Given the description of an element on the screen output the (x, y) to click on. 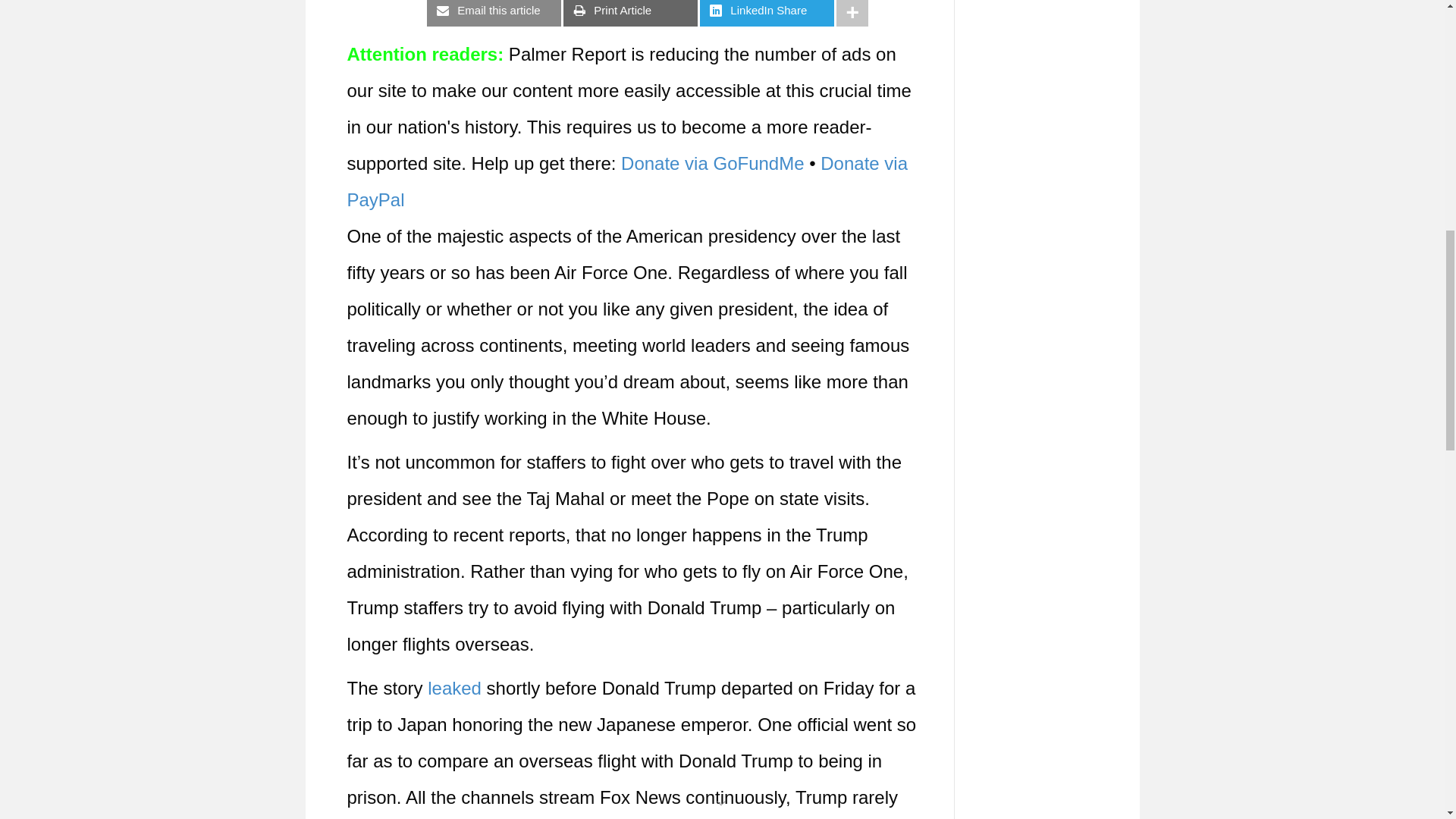
Email this article (493, 13)
Donate via PayPal (627, 181)
Donate via GoFundMe (712, 163)
Print Article (630, 13)
leaked (454, 688)
LinkedIn Share (767, 13)
